Given the description of an element on the screen output the (x, y) to click on. 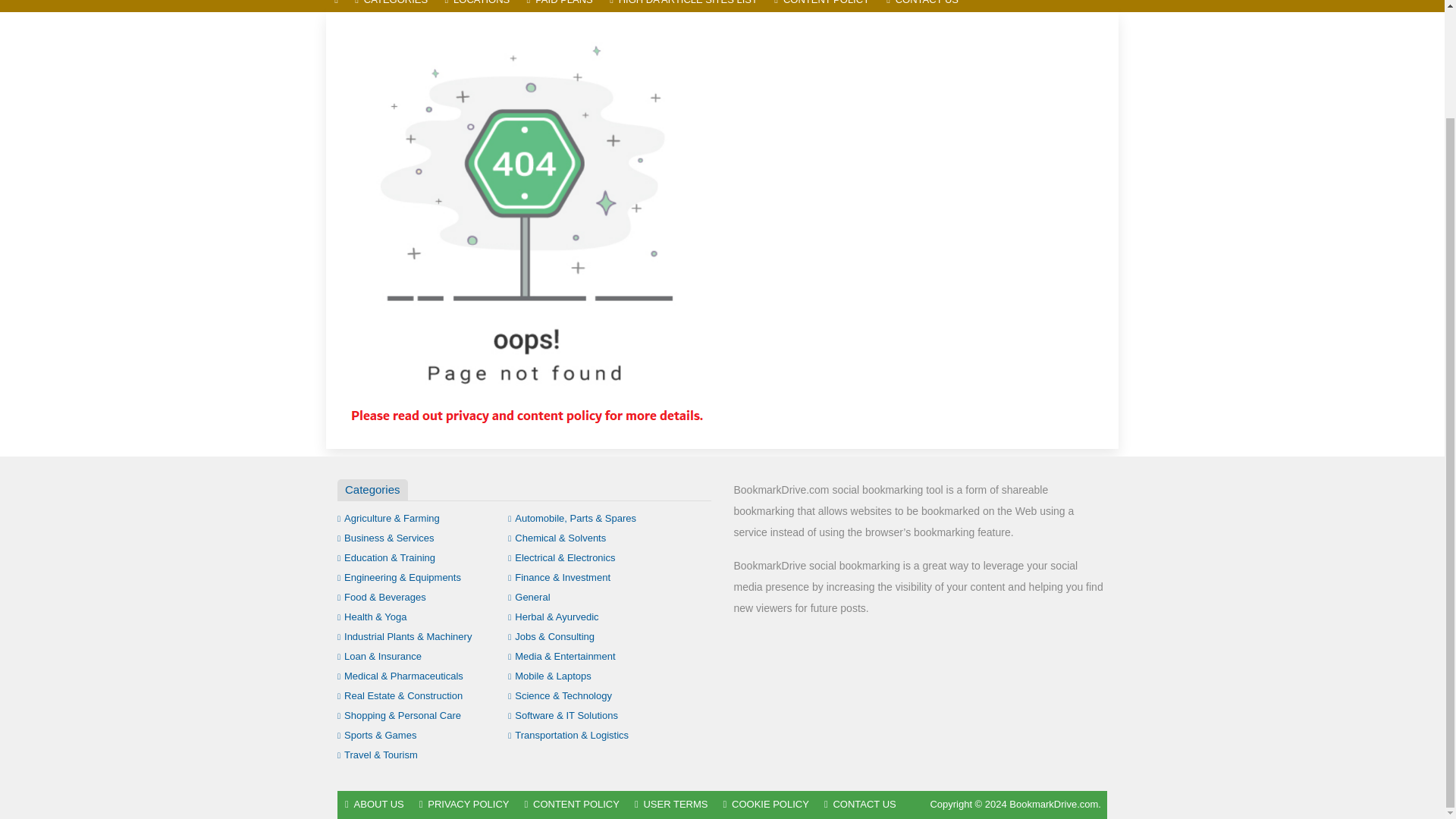
CONTENT POLICY (821, 6)
LOCATIONS (476, 6)
HIGH DA ARTICLE SITES LIST (683, 6)
HOME (336, 6)
CATEGORIES (390, 6)
General (529, 596)
PAID PLANS (559, 6)
CONTACT US (921, 6)
